Given the description of an element on the screen output the (x, y) to click on. 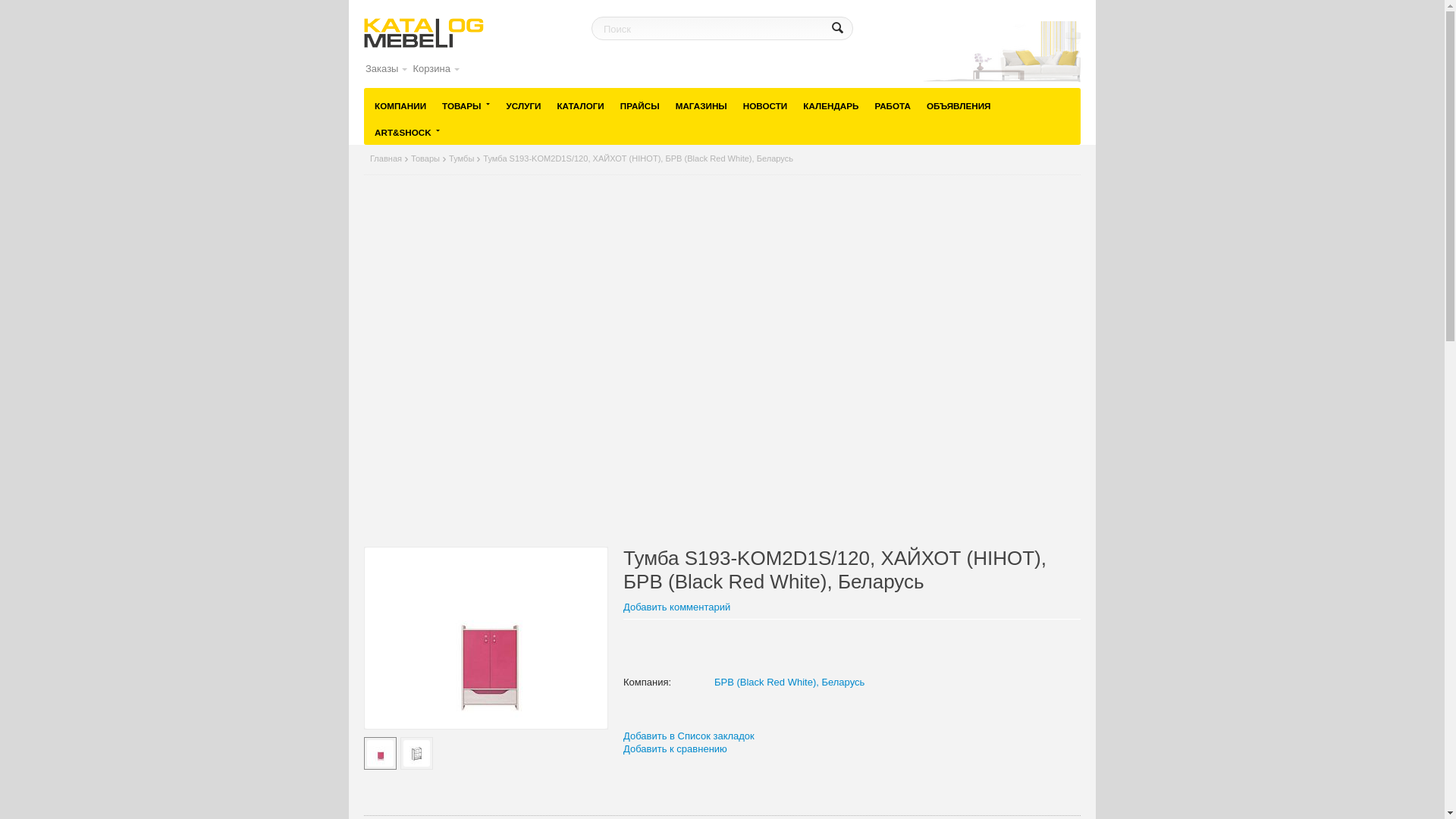
Advertisement Element type: hover (722, 363)
ART&SHOCK Element type: text (407, 131)
